Given the description of an element on the screen output the (x, y) to click on. 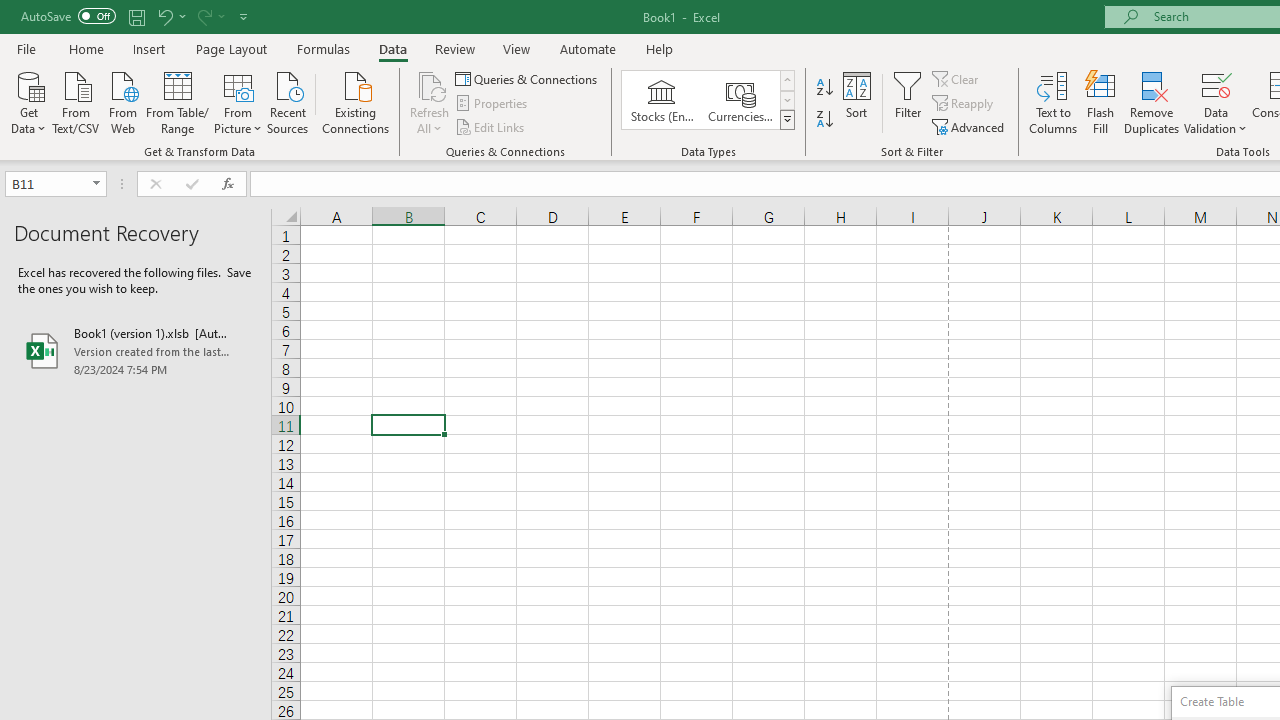
Existing Connections (355, 101)
Stocks (English) (662, 100)
From Picture (238, 101)
Currencies (English) (740, 100)
Remove Duplicates (1151, 102)
Properties (492, 103)
